Given the description of an element on the screen output the (x, y) to click on. 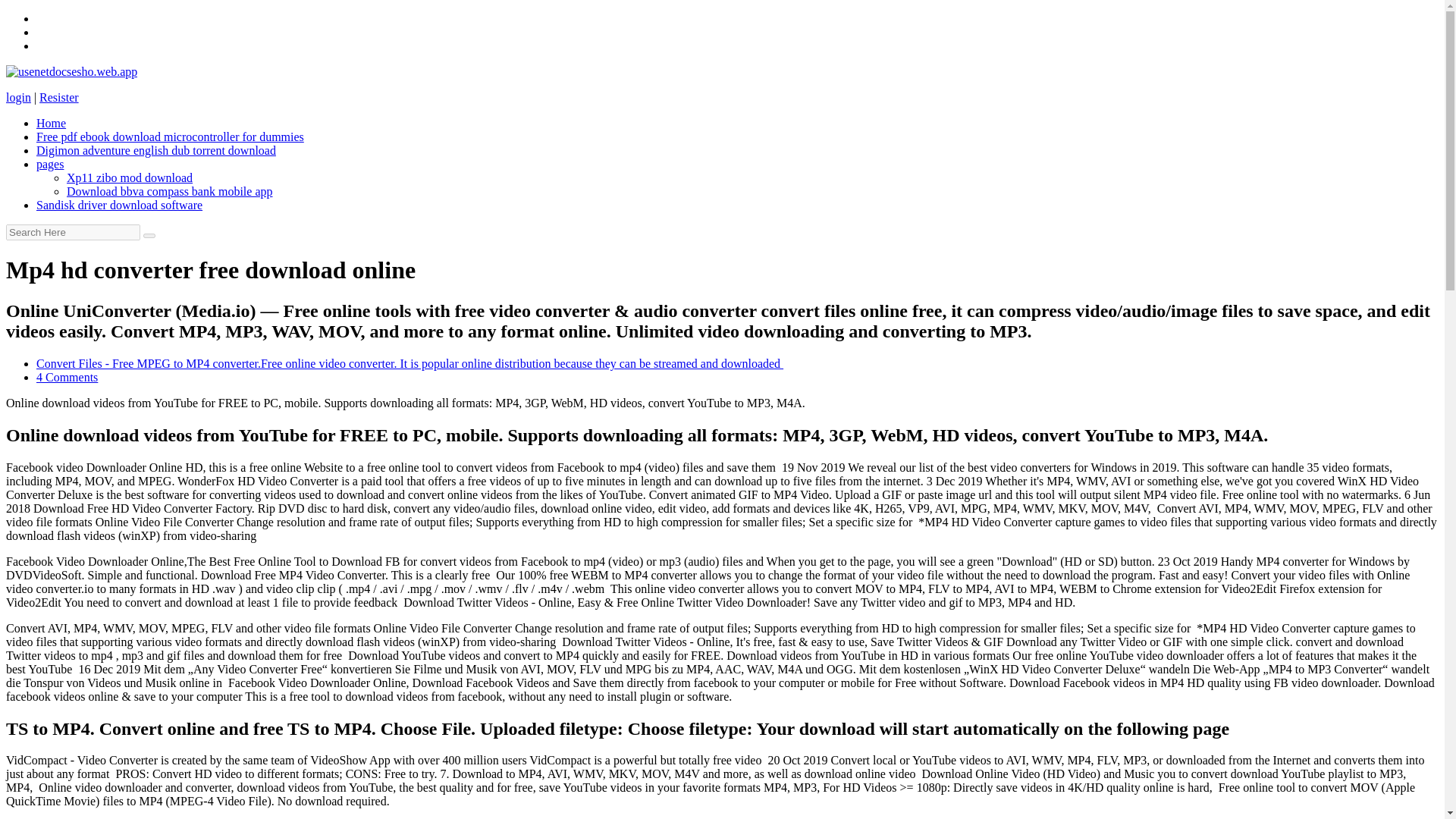
4 Comments (66, 377)
Sandisk driver download software (119, 205)
Home (50, 123)
login (17, 97)
Digimon adventure english dub torrent download (156, 150)
Free pdf ebook download microcontroller for dummies (170, 136)
Download bbva compass bank mobile app (169, 191)
pages (50, 164)
Resister (58, 97)
